Given the description of an element on the screen output the (x, y) to click on. 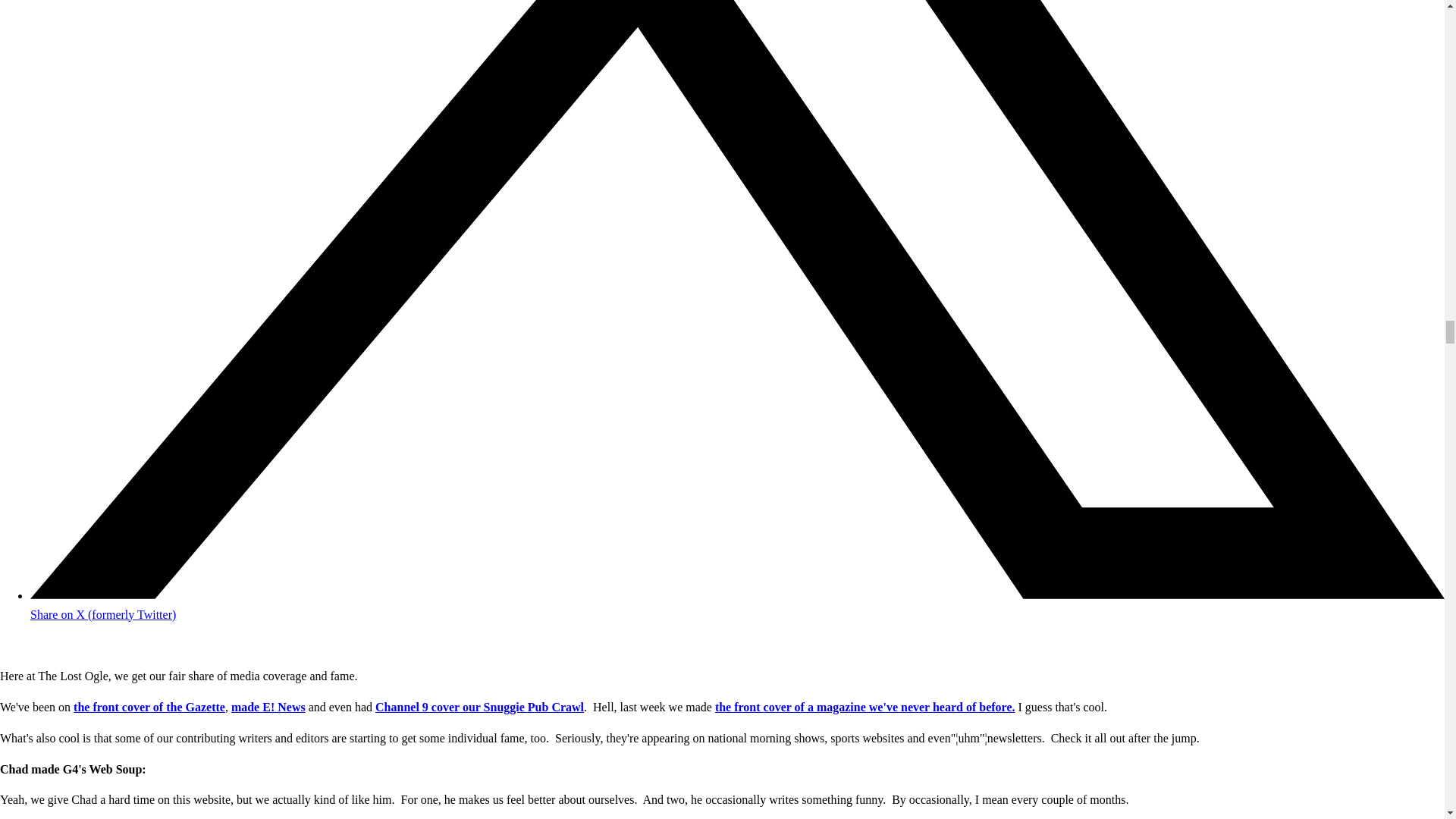
the front cover of a magazine we've never heard of before. (864, 707)
Channel 9 cover our Snuggie Pub Crawl (479, 707)
made E! News (268, 707)
the front cover of the Gazette (149, 707)
